Given the description of an element on the screen output the (x, y) to click on. 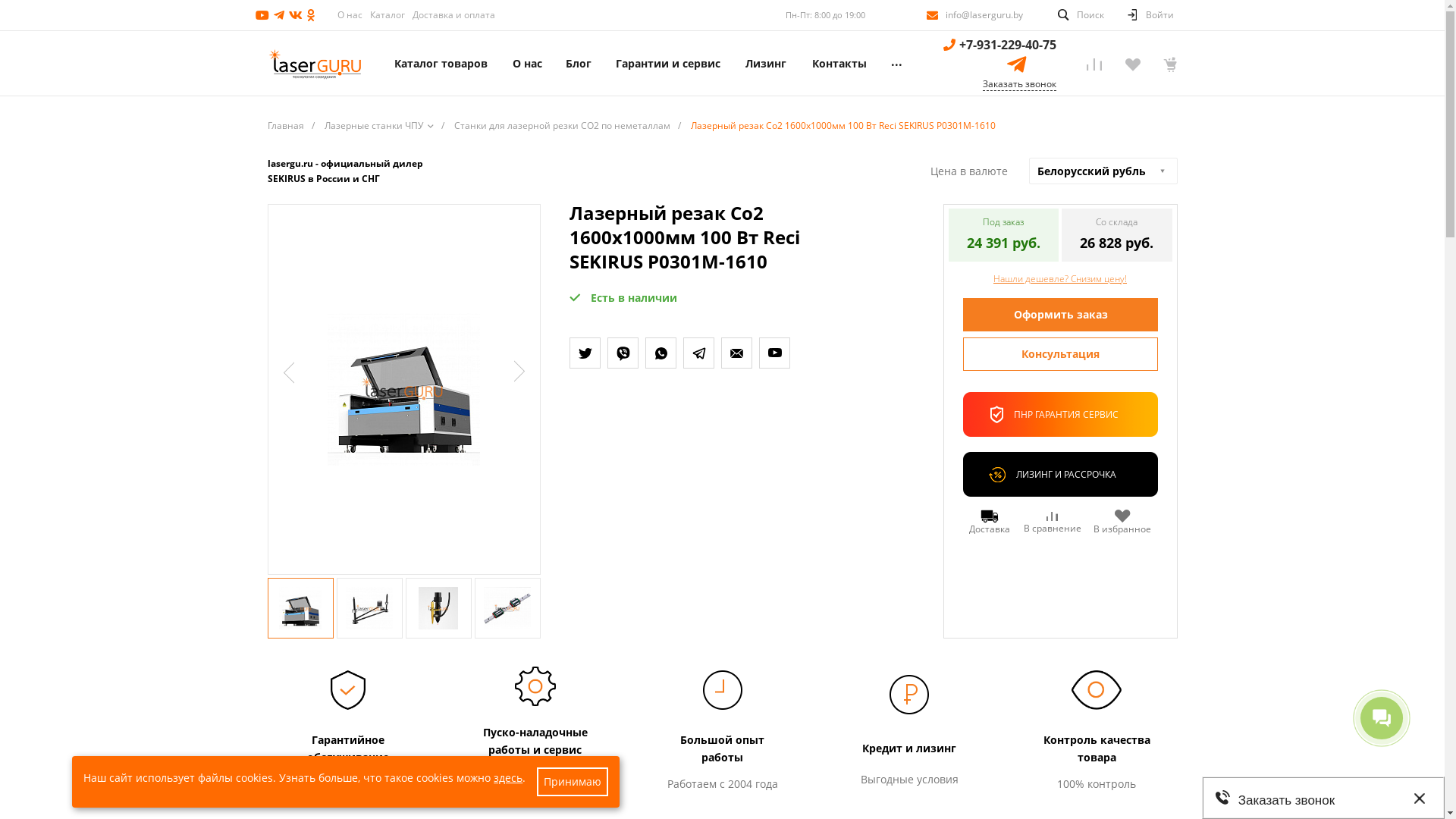
... Element type: text (895, 63)
info@laserguru.by Element type: text (983, 14)
+7-931-229-40-75 Element type: text (1006, 44)
